Given the description of an element on the screen output the (x, y) to click on. 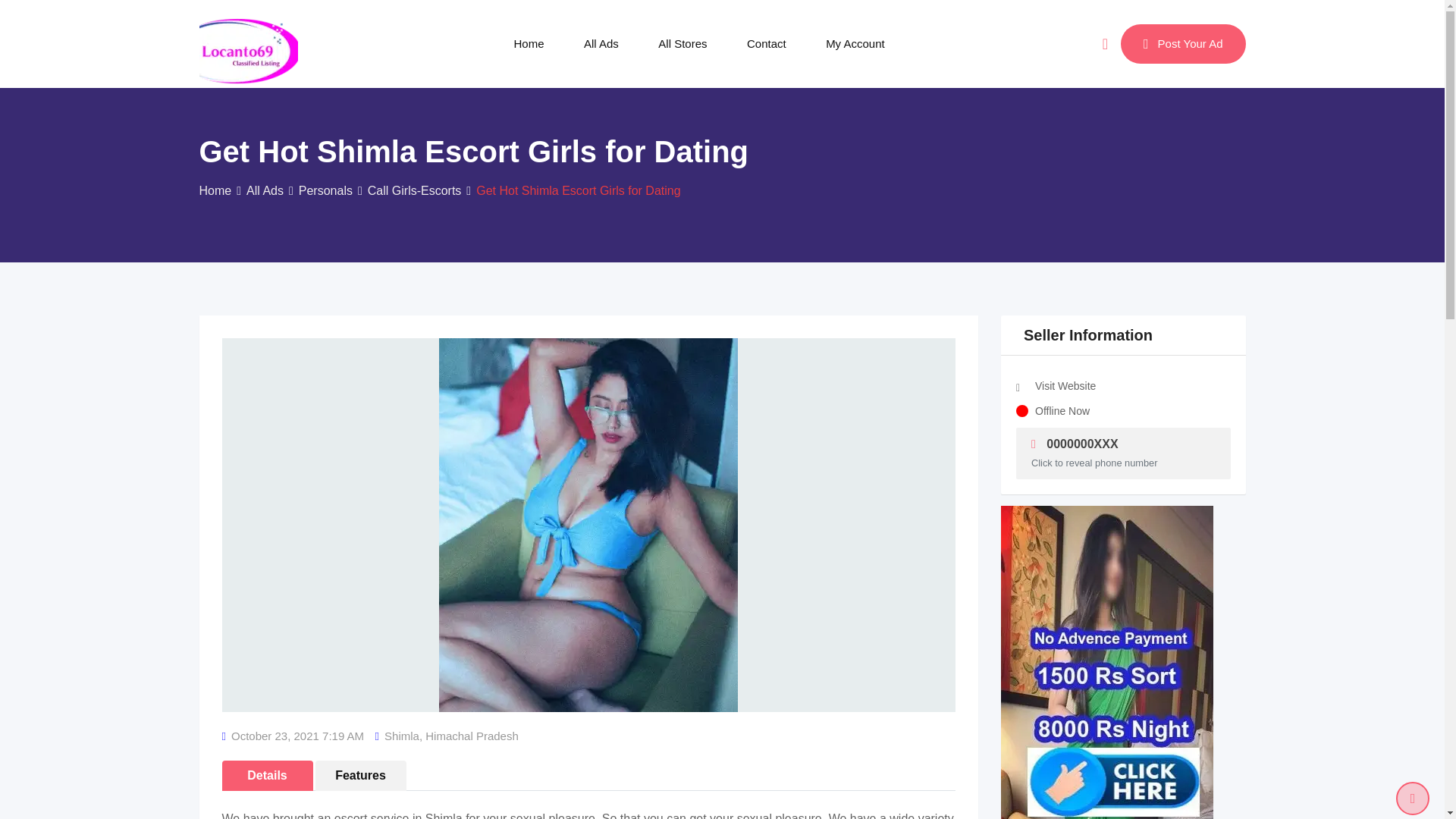
Features (360, 775)
Home (529, 43)
My Account (855, 43)
All Ads (264, 190)
Personals (325, 190)
Details (267, 775)
Post Your Ad (1182, 43)
Home (214, 190)
Call Girls-Escorts (414, 190)
Himachal Pradesh (471, 735)
